Given the description of an element on the screen output the (x, y) to click on. 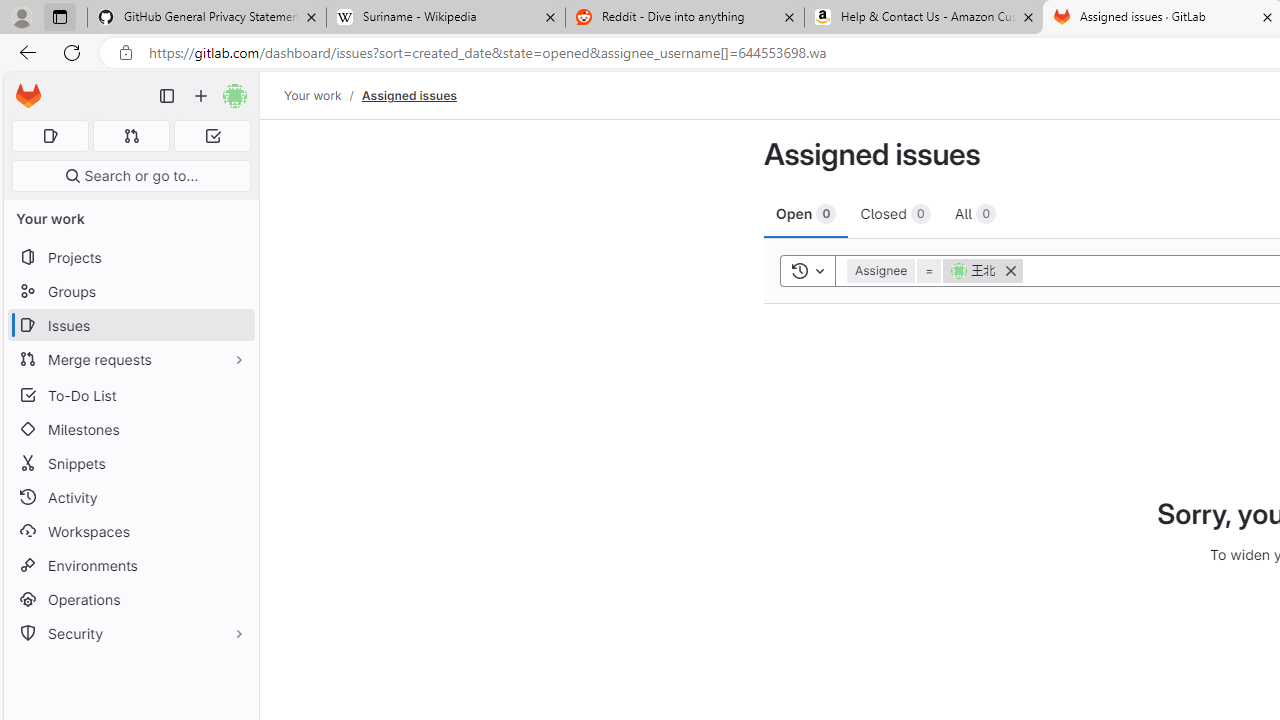
Snippets (130, 463)
Projects (130, 257)
Operations (130, 599)
Primary navigation sidebar (167, 96)
To-Do List (130, 394)
To-Do list 0 (212, 136)
Operations (130, 599)
Suriname - Wikipedia (445, 17)
Issues (130, 325)
Environments (130, 564)
